Given the description of an element on the screen output the (x, y) to click on. 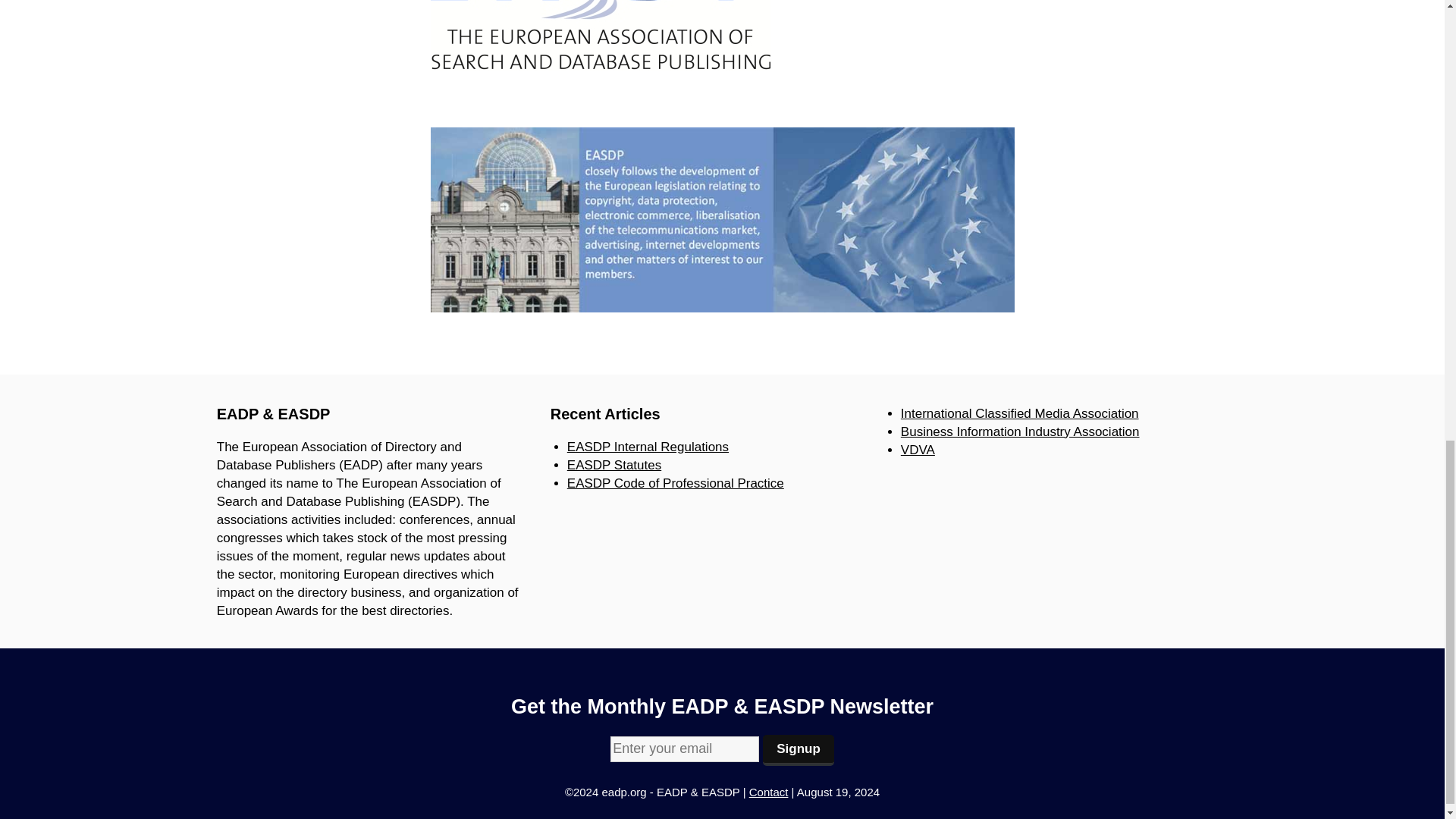
International Classified Media Association (1019, 413)
Contact (769, 791)
Business Information Industry Association (1020, 431)
Signup (798, 749)
EASDP Statutes (614, 464)
EASDP Code of Professional Practice (675, 482)
VDVA (917, 450)
EASDP Internal Regulations (648, 446)
Signup (798, 749)
